Given the description of an element on the screen output the (x, y) to click on. 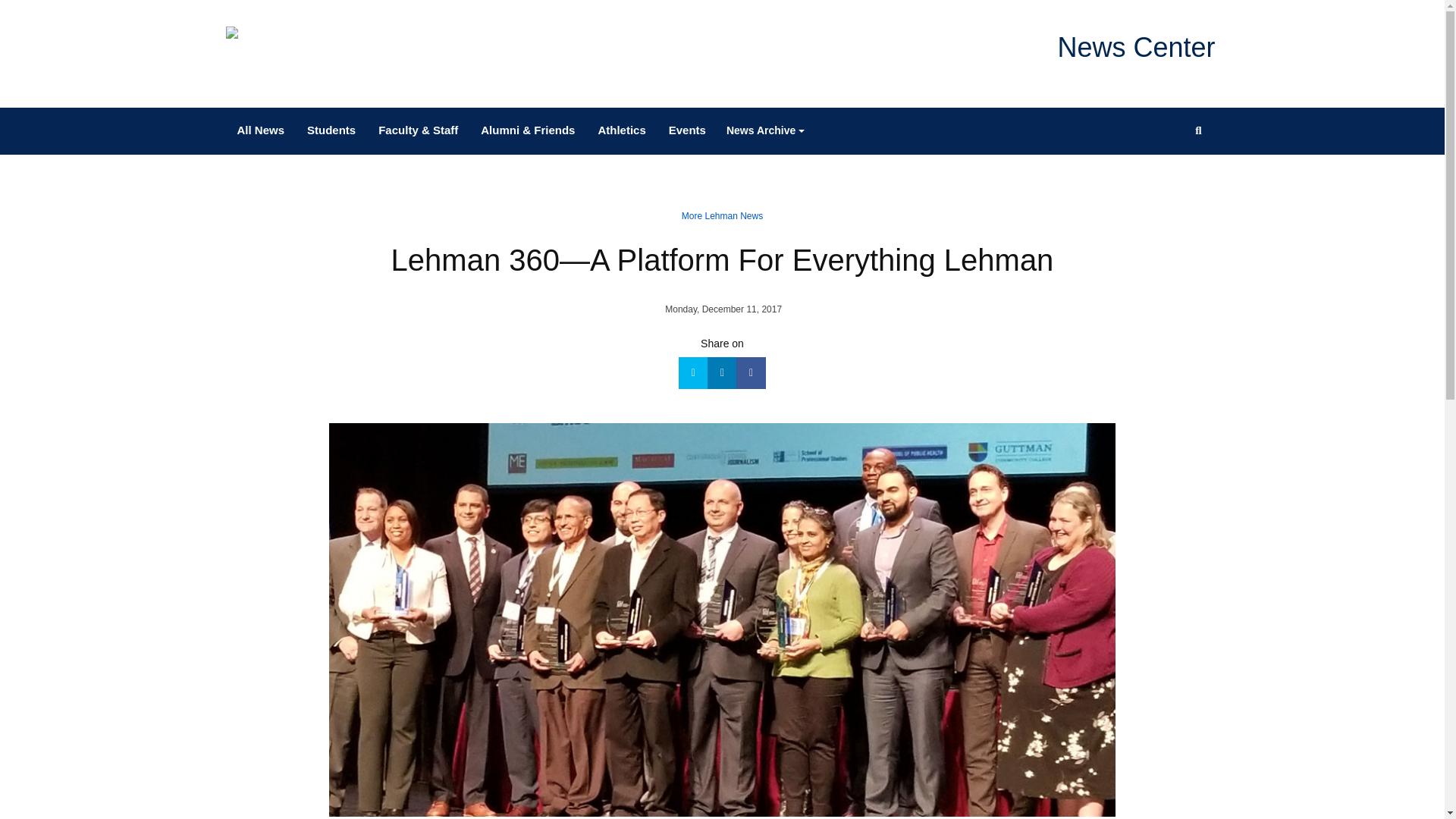
Events (687, 130)
Students (330, 130)
News Archive (765, 130)
All News (261, 130)
Share on LinkedIn (721, 373)
Share on Facebook (750, 373)
Share on X (692, 373)
News Center (1135, 47)
Athletics (621, 130)
More Lehman News (721, 215)
